Given the description of an element on the screen output the (x, y) to click on. 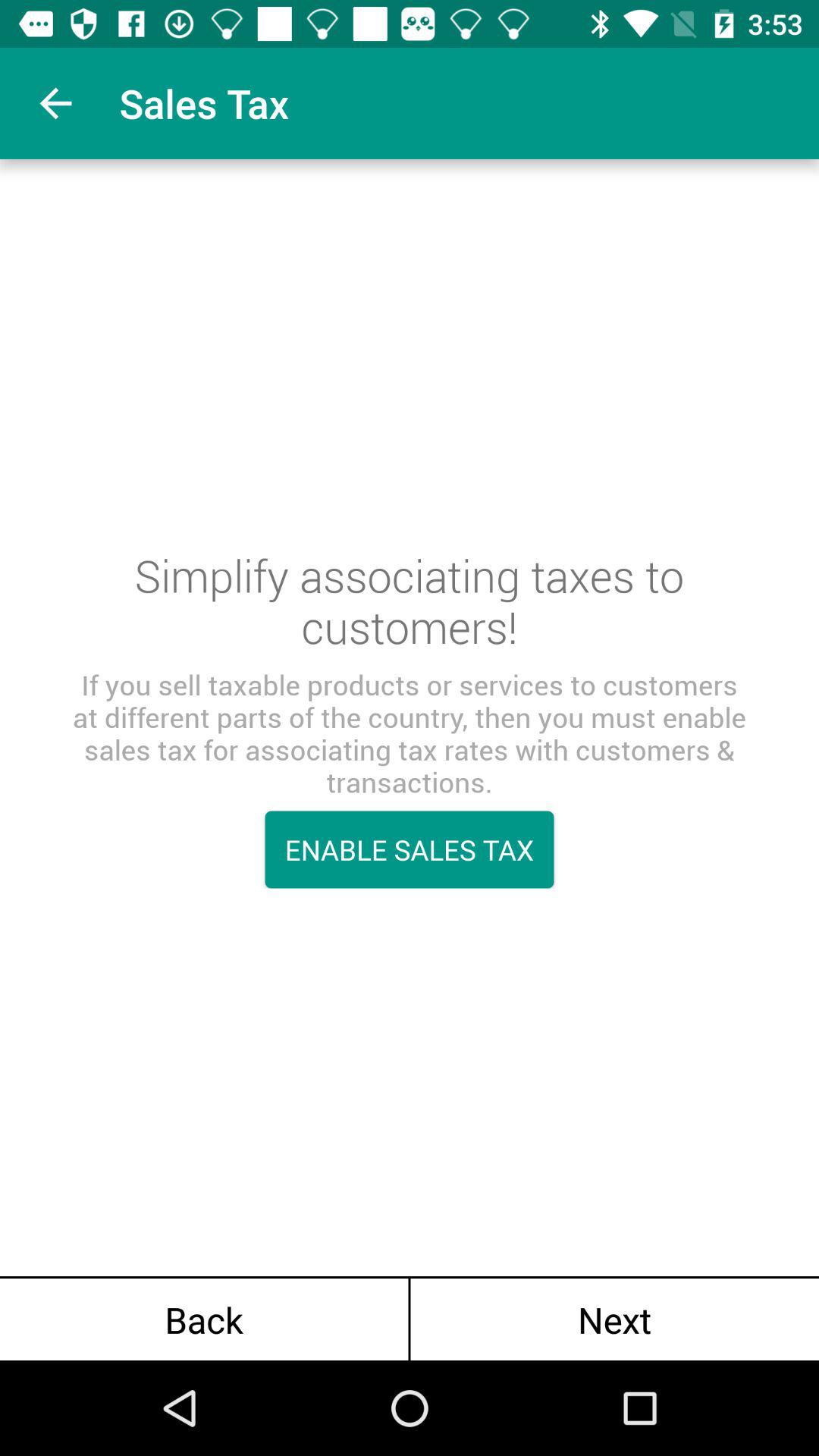
turn on the item above the simplify associating taxes (55, 103)
